Given the description of an element on the screen output the (x, y) to click on. 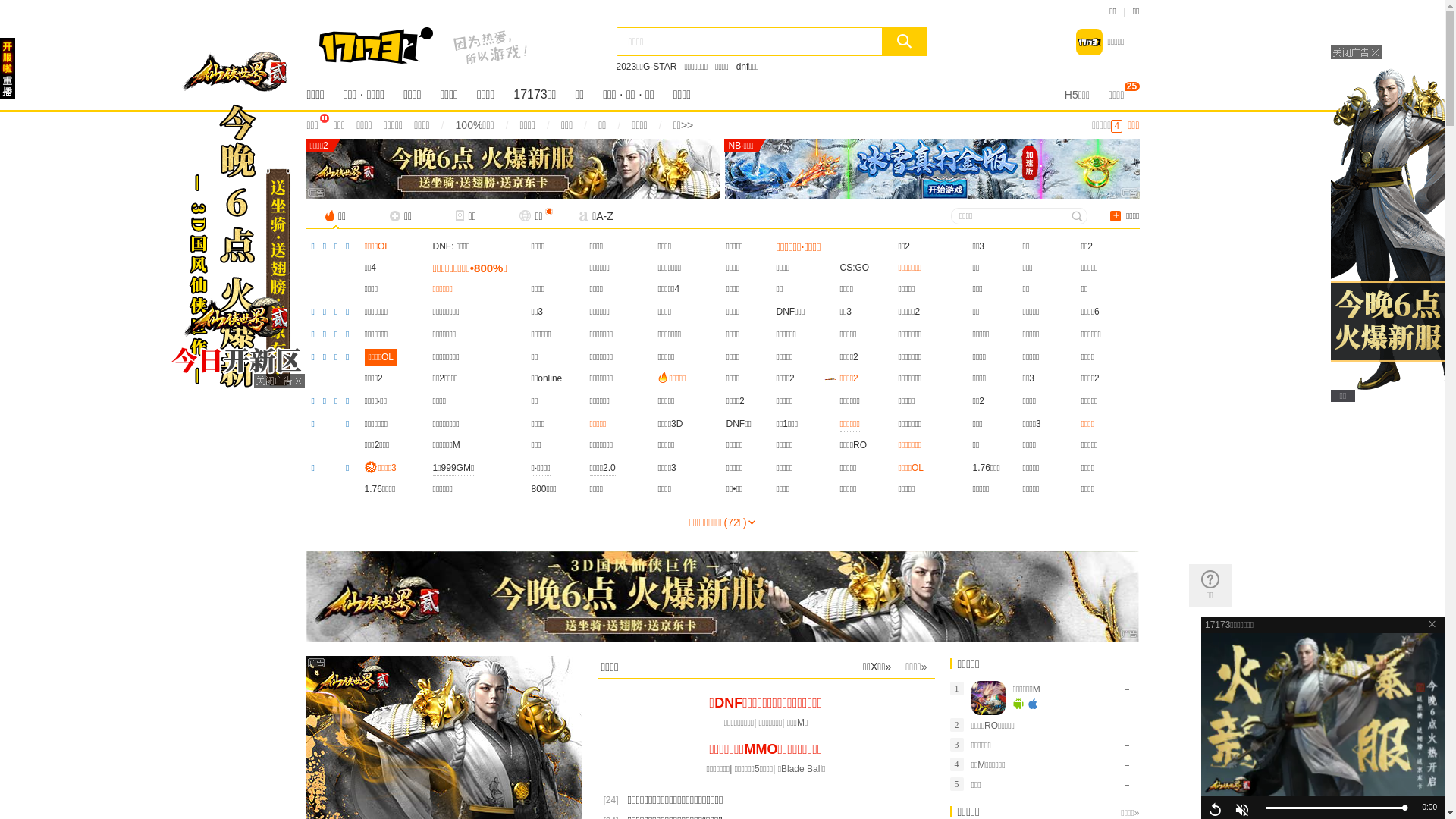
CS:GO Element type: text (854, 267)
